Given the description of an element on the screen output the (x, y) to click on. 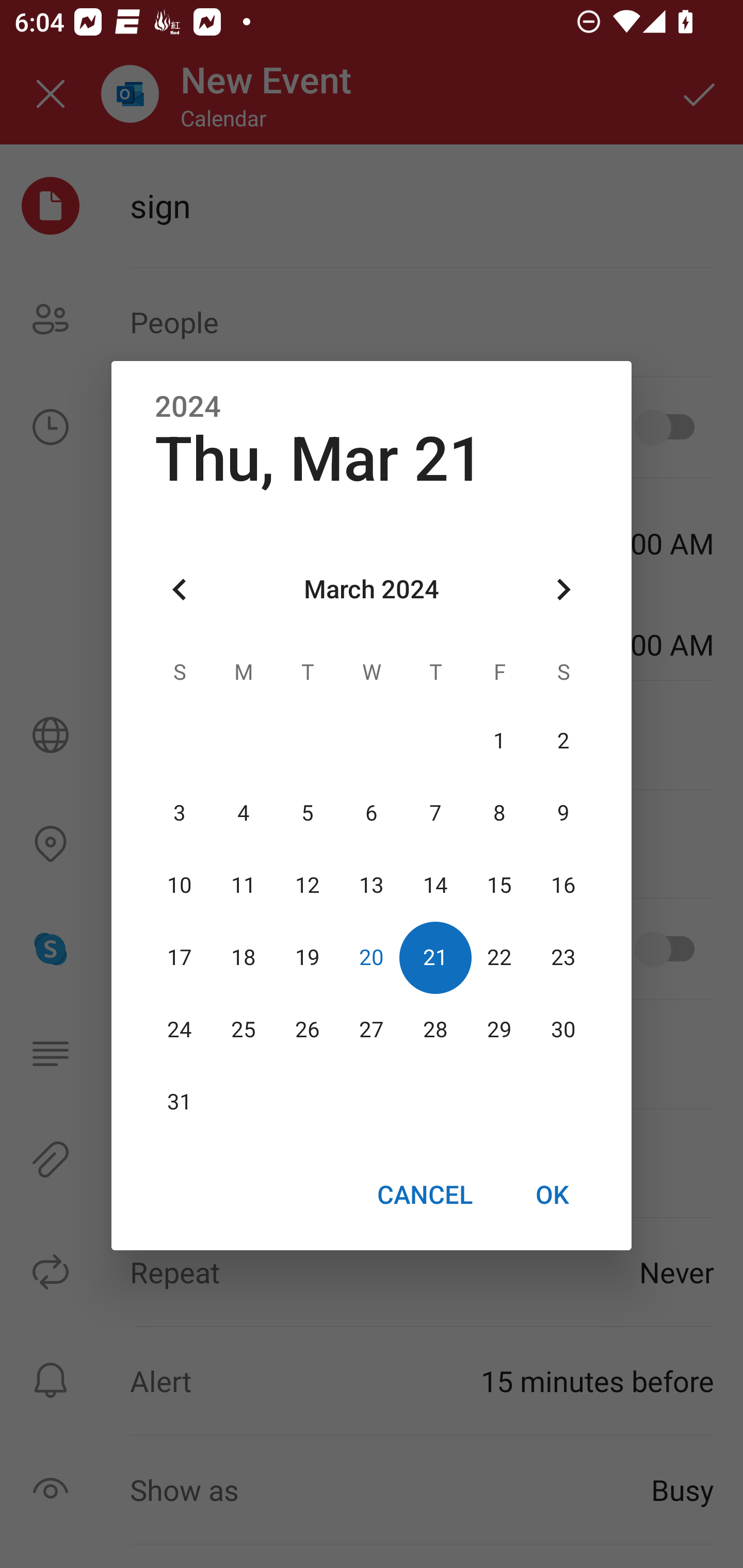
2024 (187, 406)
Thu, Mar 21 (318, 459)
Previous month (178, 589)
Next month (563, 589)
1 01 March 2024 (499, 741)
2 02 March 2024 (563, 741)
3 03 March 2024 (179, 813)
4 04 March 2024 (243, 813)
5 05 March 2024 (307, 813)
6 06 March 2024 (371, 813)
7 07 March 2024 (435, 813)
8 08 March 2024 (499, 813)
9 09 March 2024 (563, 813)
10 10 March 2024 (179, 885)
11 11 March 2024 (243, 885)
12 12 March 2024 (307, 885)
13 13 March 2024 (371, 885)
14 14 March 2024 (435, 885)
15 15 March 2024 (499, 885)
16 16 March 2024 (563, 885)
17 17 March 2024 (179, 957)
18 18 March 2024 (243, 957)
19 19 March 2024 (307, 957)
20 20 March 2024 (371, 957)
21 21 March 2024 (435, 957)
22 22 March 2024 (499, 957)
23 23 March 2024 (563, 957)
24 24 March 2024 (179, 1030)
25 25 March 2024 (243, 1030)
26 26 March 2024 (307, 1030)
27 27 March 2024 (371, 1030)
28 28 March 2024 (435, 1030)
29 29 March 2024 (499, 1030)
30 30 March 2024 (563, 1030)
31 31 March 2024 (179, 1102)
CANCEL (424, 1194)
OK (552, 1194)
